Given the description of an element on the screen output the (x, y) to click on. 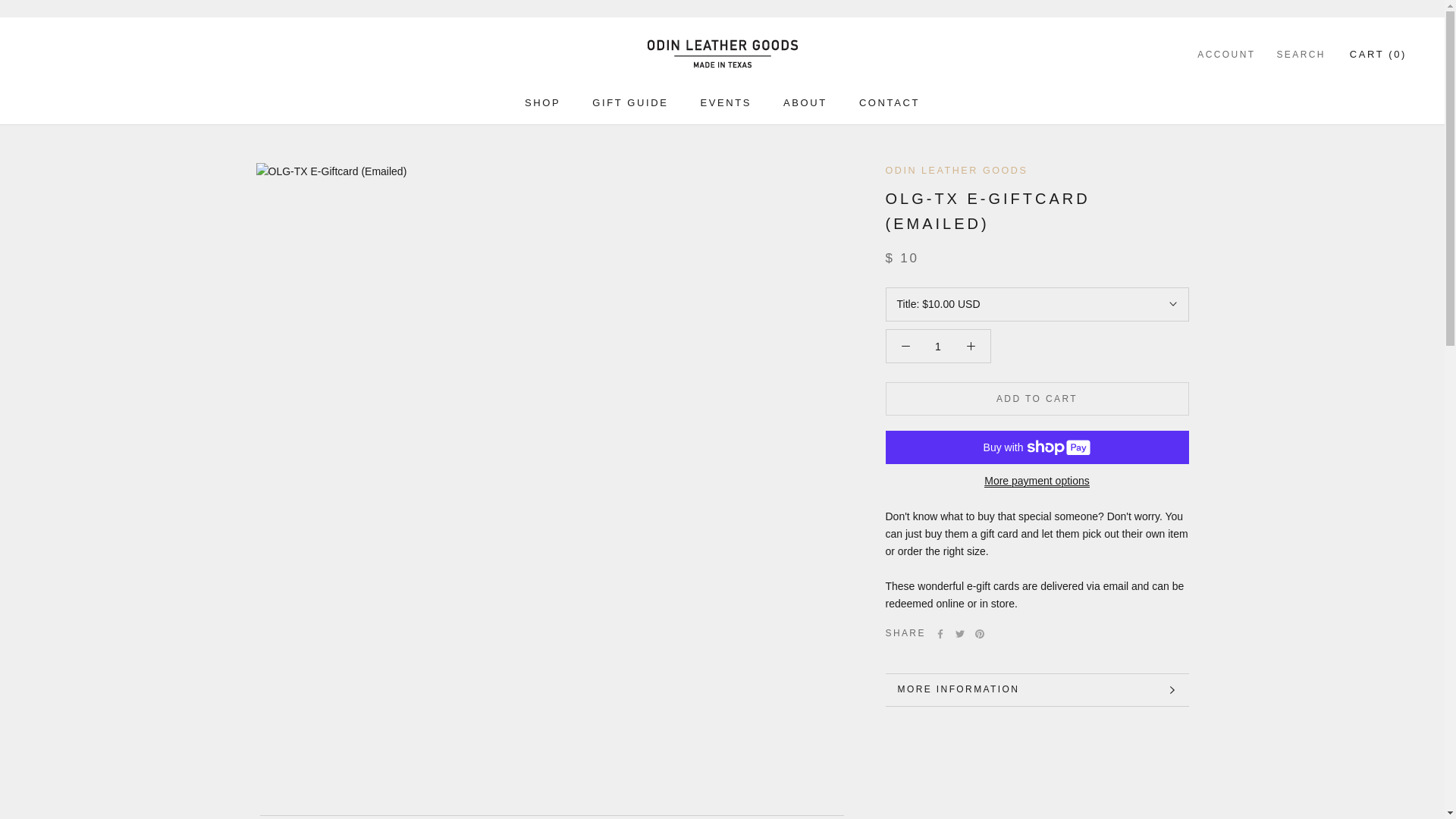
SHOP (542, 102)
1 (938, 346)
